Given the description of an element on the screen output the (x, y) to click on. 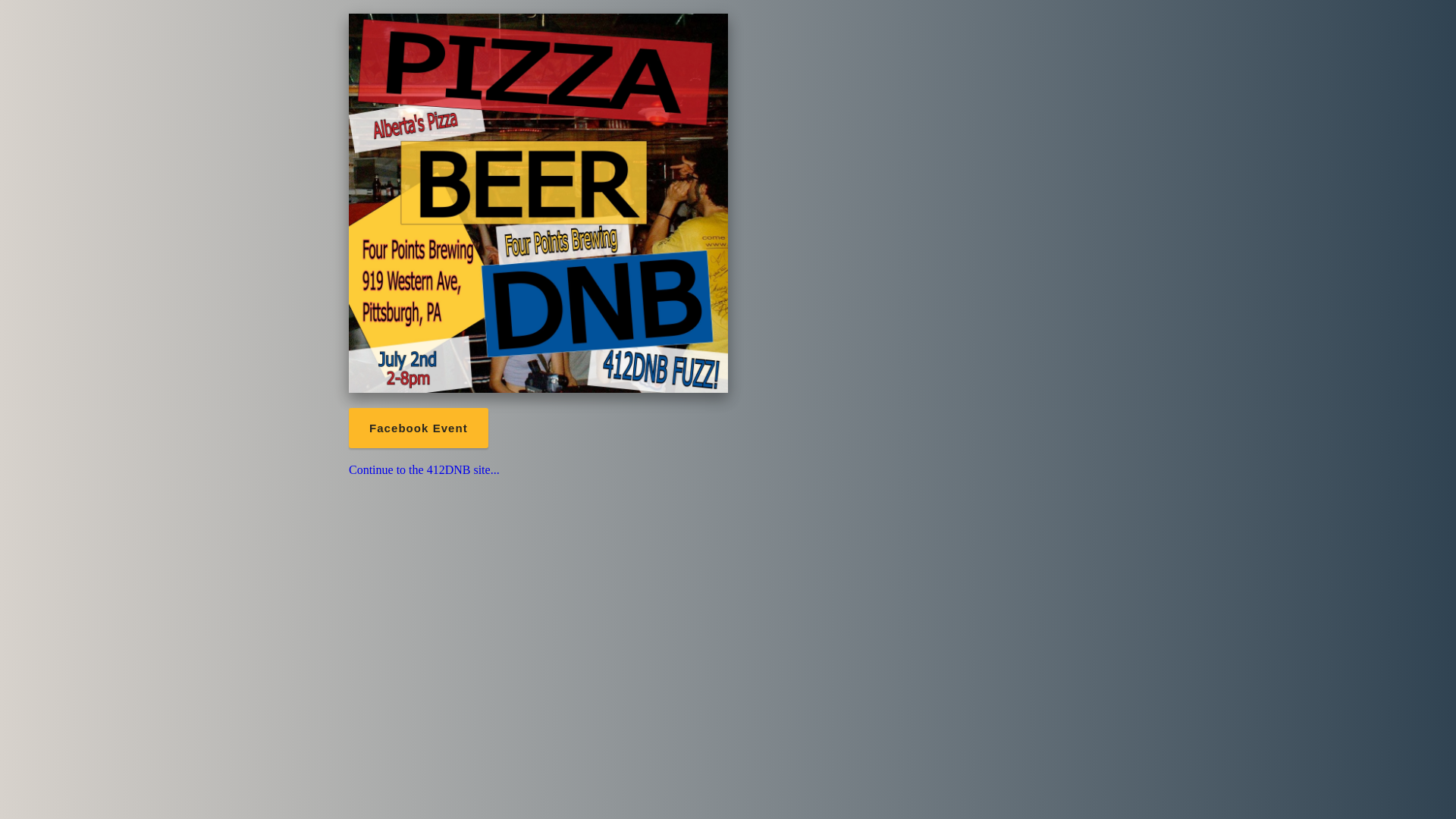
Facebook Event Element type: text (418, 427)
Continue to the 412DNB site... Element type: text (423, 469)
